Given the description of an element on the screen output the (x, y) to click on. 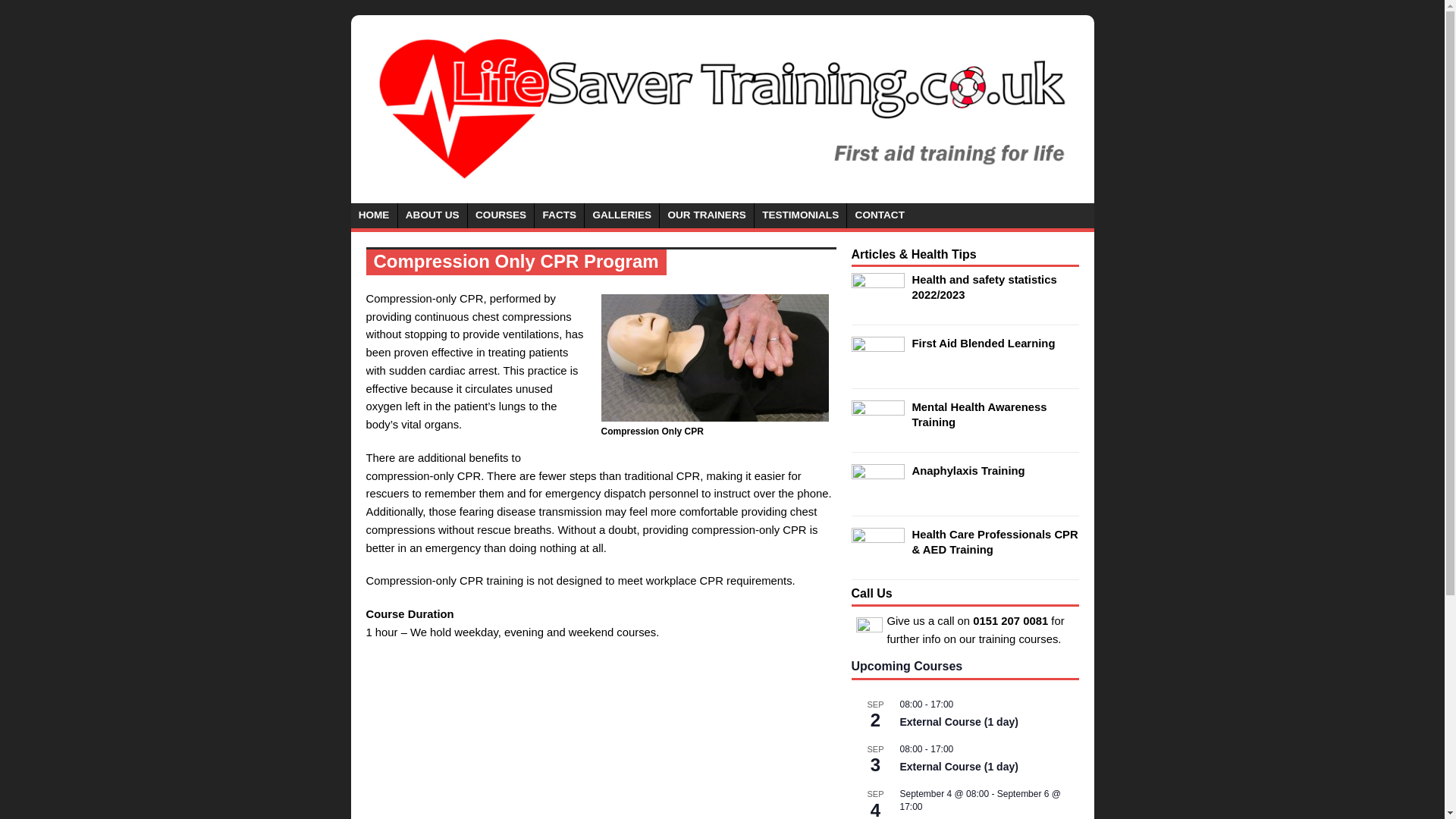
HOME (373, 215)
First Aid Blended Learning (877, 368)
Mental Health Awareness Training (978, 414)
Anaphylaxis Training (968, 470)
Mental Health Awareness Training (877, 431)
Compression Only CPR (713, 357)
ABOUT US (432, 215)
COURSES (500, 215)
Anaphylaxis Training (877, 495)
